Given the description of an element on the screen output the (x, y) to click on. 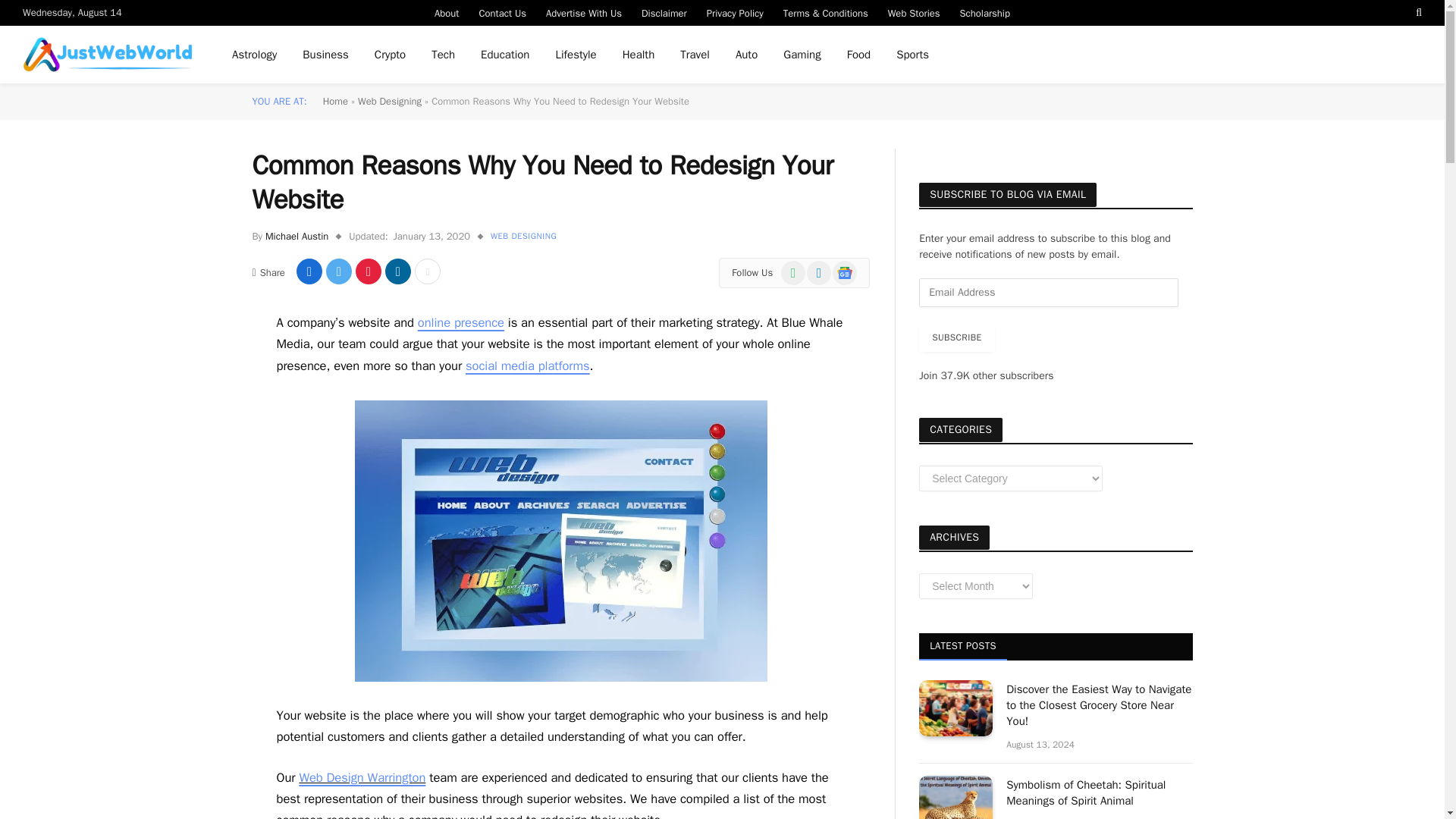
Crypto (390, 54)
Disclaimer (664, 12)
About (446, 12)
Share on LinkedIn (397, 271)
Astrology (254, 54)
Education (504, 54)
Show More Social Sharing (427, 271)
Share on Pinterest (368, 271)
Scholarship (985, 12)
Business (325, 54)
